Given the description of an element on the screen output the (x, y) to click on. 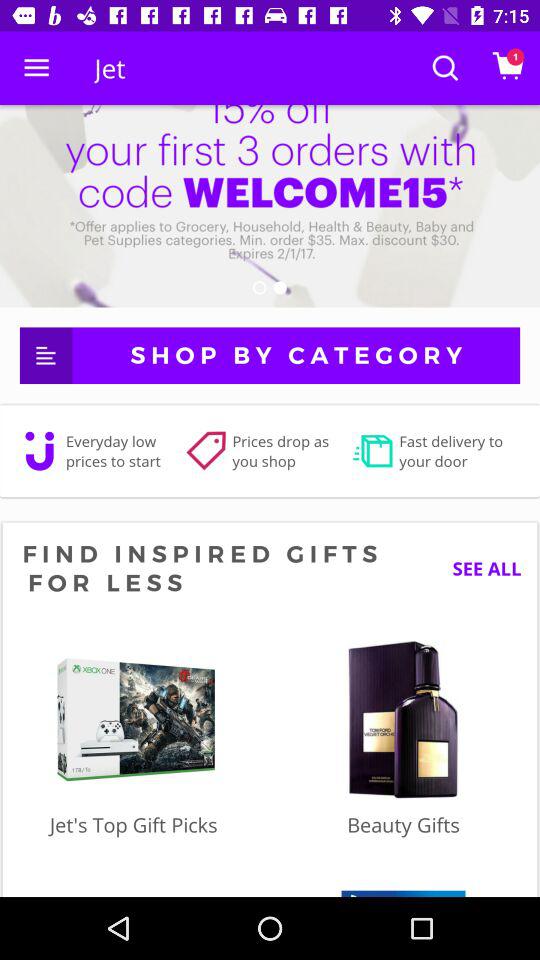
select the icon to the left of the jet icon (36, 68)
